Given the description of an element on the screen output the (x, y) to click on. 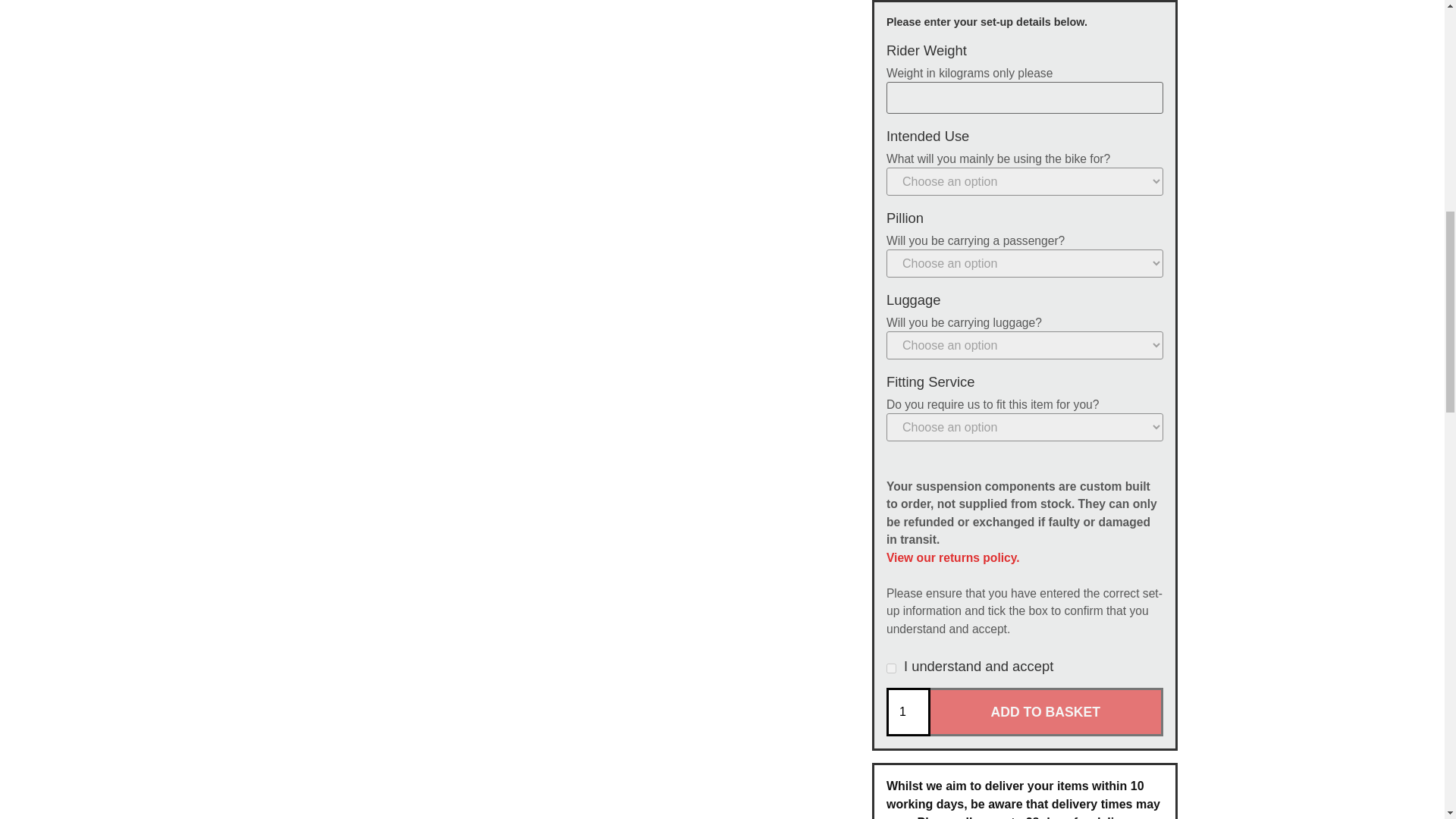
1 (908, 711)
lfyt8 (891, 668)
ADD TO BASKET (1045, 711)
View our returns policy. (953, 557)
